Given the description of an element on the screen output the (x, y) to click on. 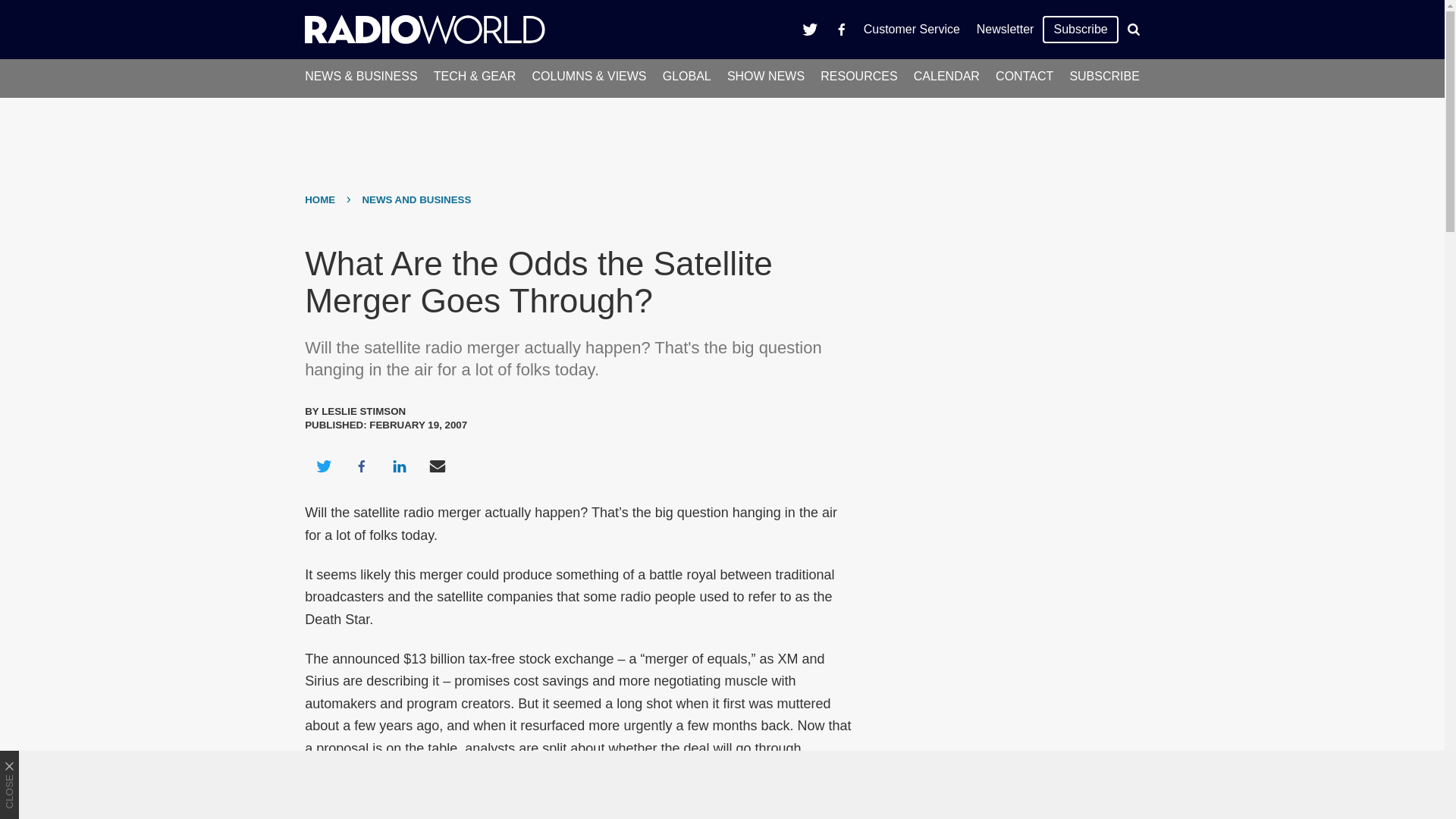
Share on Facebook (361, 466)
Share via Email (438, 466)
Customer Service (912, 29)
Share on LinkedIn (399, 466)
Share on Twitter (323, 466)
